Given the description of an element on the screen output the (x, y) to click on. 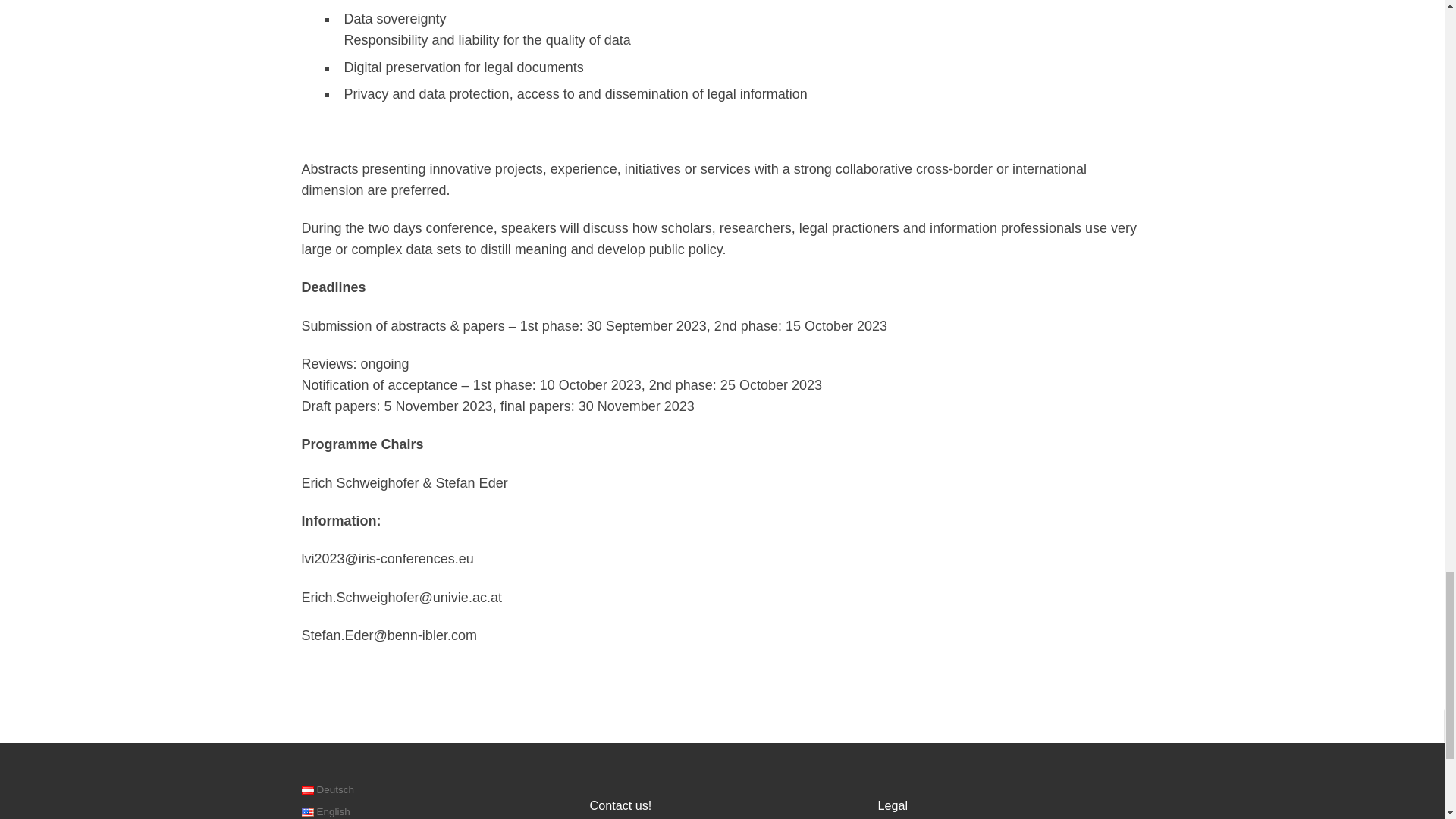
English (307, 812)
Deutsch (307, 790)
